Given the description of an element on the screen output the (x, y) to click on. 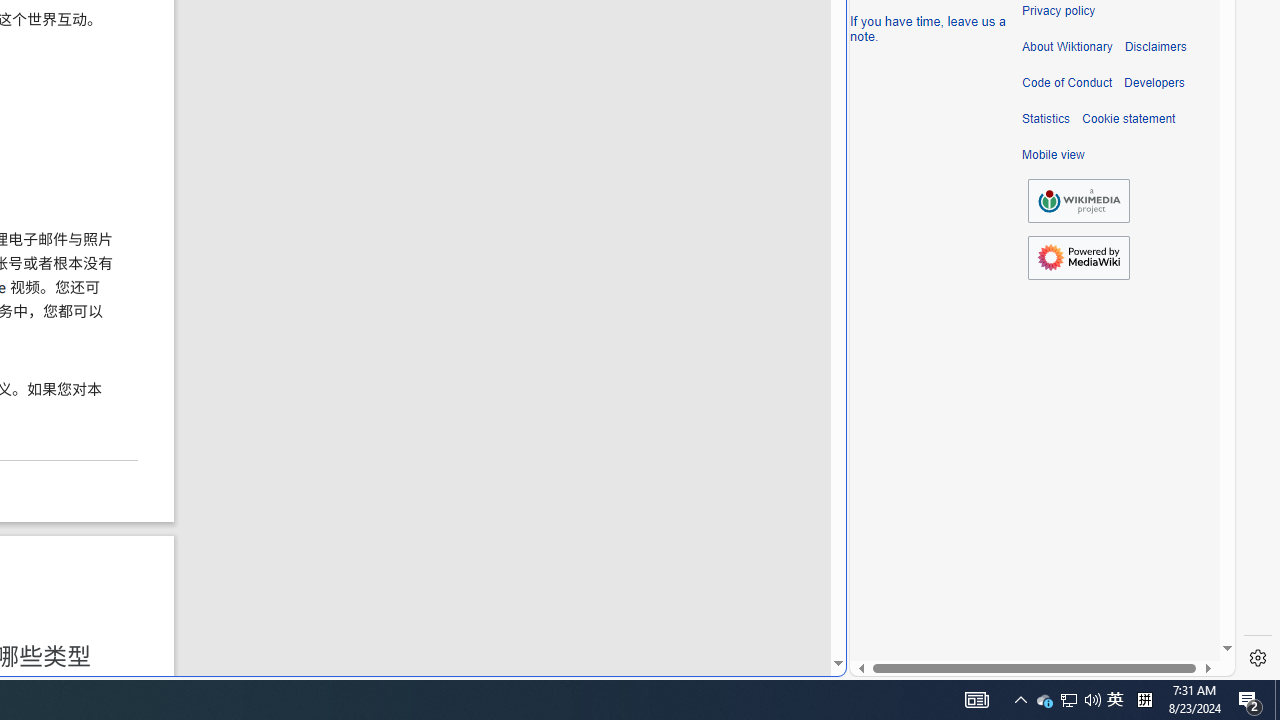
Actions for this site (1129, 306)
Wikimedia Foundation (1078, 201)
Statistics (1046, 119)
If you have time, leave us a note. (927, 27)
AutomationID: footer-poweredbyico (1078, 257)
Powered by MediaWiki (1078, 257)
Powered by MediaWiki (1078, 257)
Privacy policy (1058, 11)
Wikimedia Foundation (1078, 200)
